Given the description of an element on the screen output the (x, y) to click on. 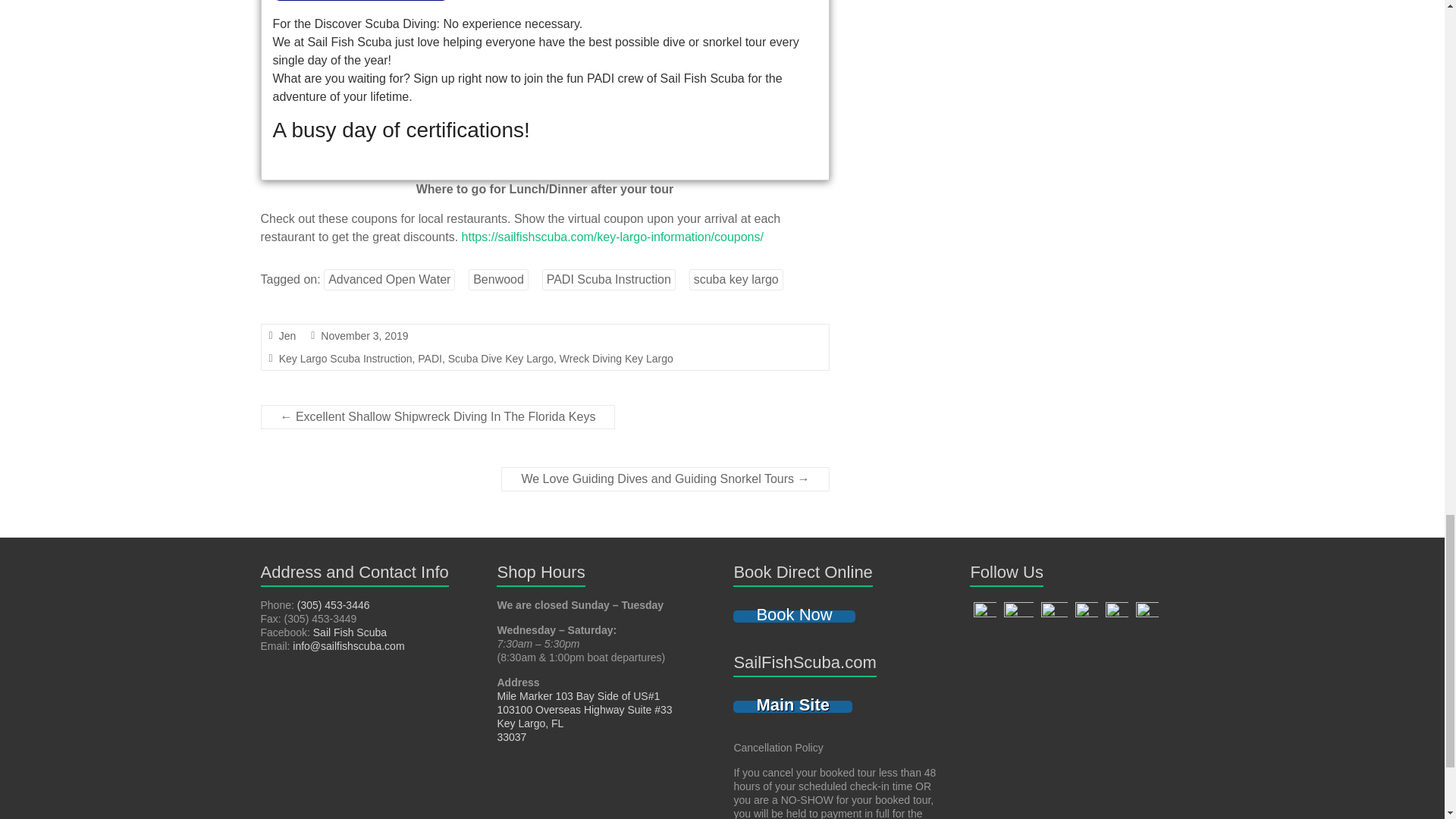
7:40 pm (363, 336)
